Given the description of an element on the screen output the (x, y) to click on. 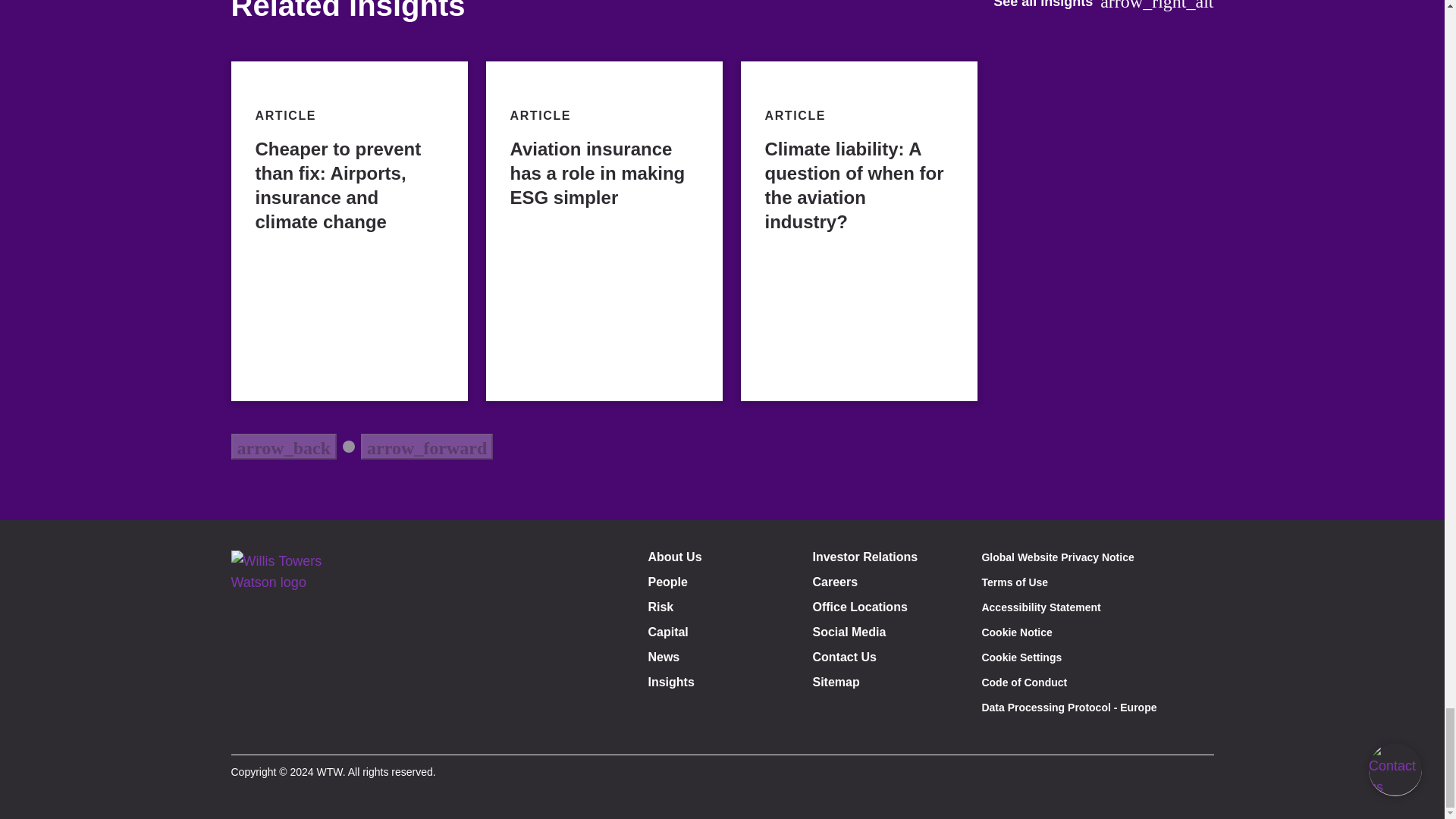
Facebook (252, 732)
Linkedin (287, 732)
Instagram (320, 732)
